Given the description of an element on the screen output the (x, y) to click on. 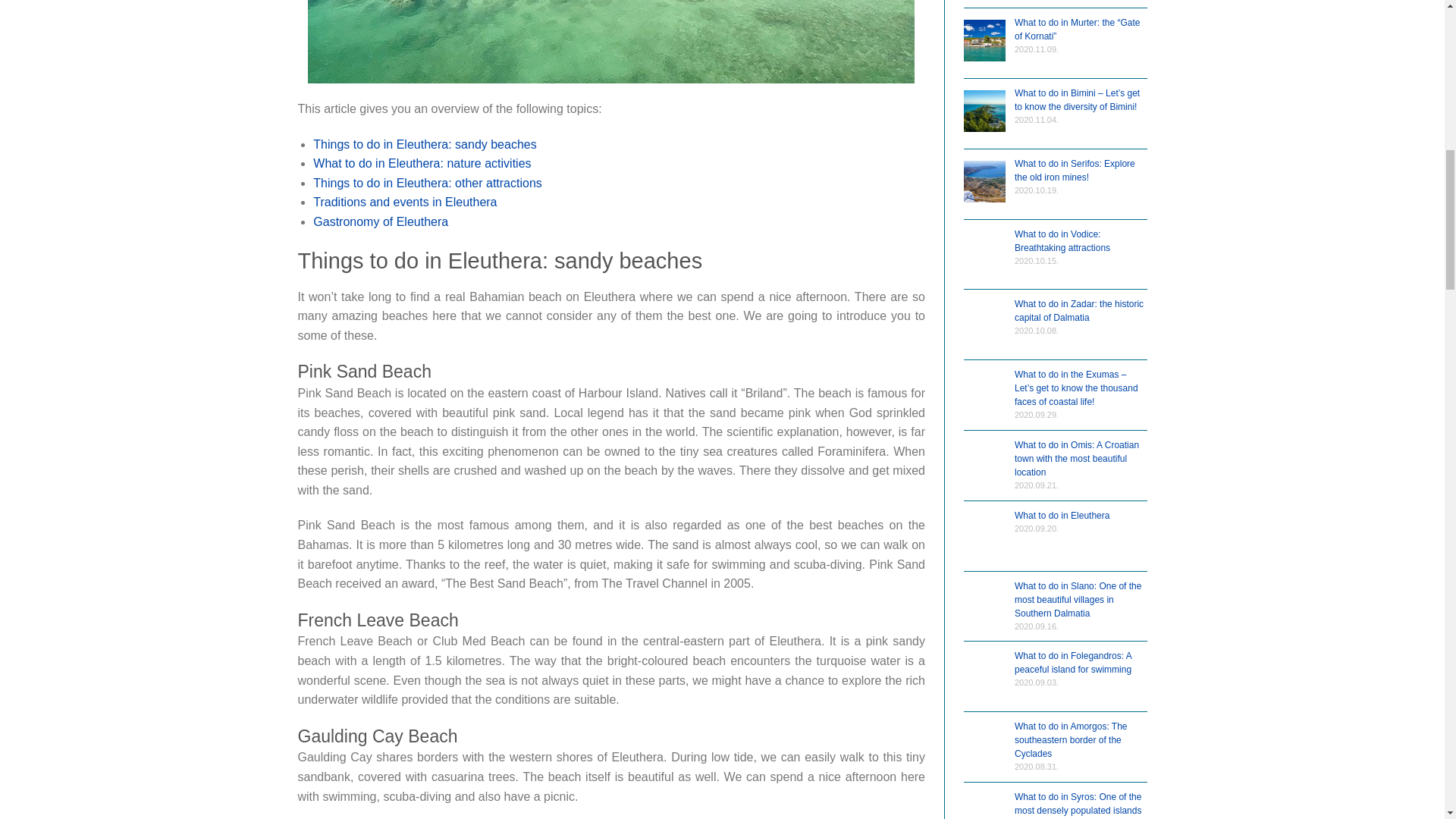
What to do in Eleuthera: nature activities (422, 163)
Gastronomy of Eleuthera (380, 221)
What to do in Eleuthera (610, 41)
Traditions and events in Eleuthera (404, 201)
Things to do in Eleuthera: sandy beaches (424, 144)
Things to do in Eleuthera: other attractions (427, 182)
